Given the description of an element on the screen output the (x, y) to click on. 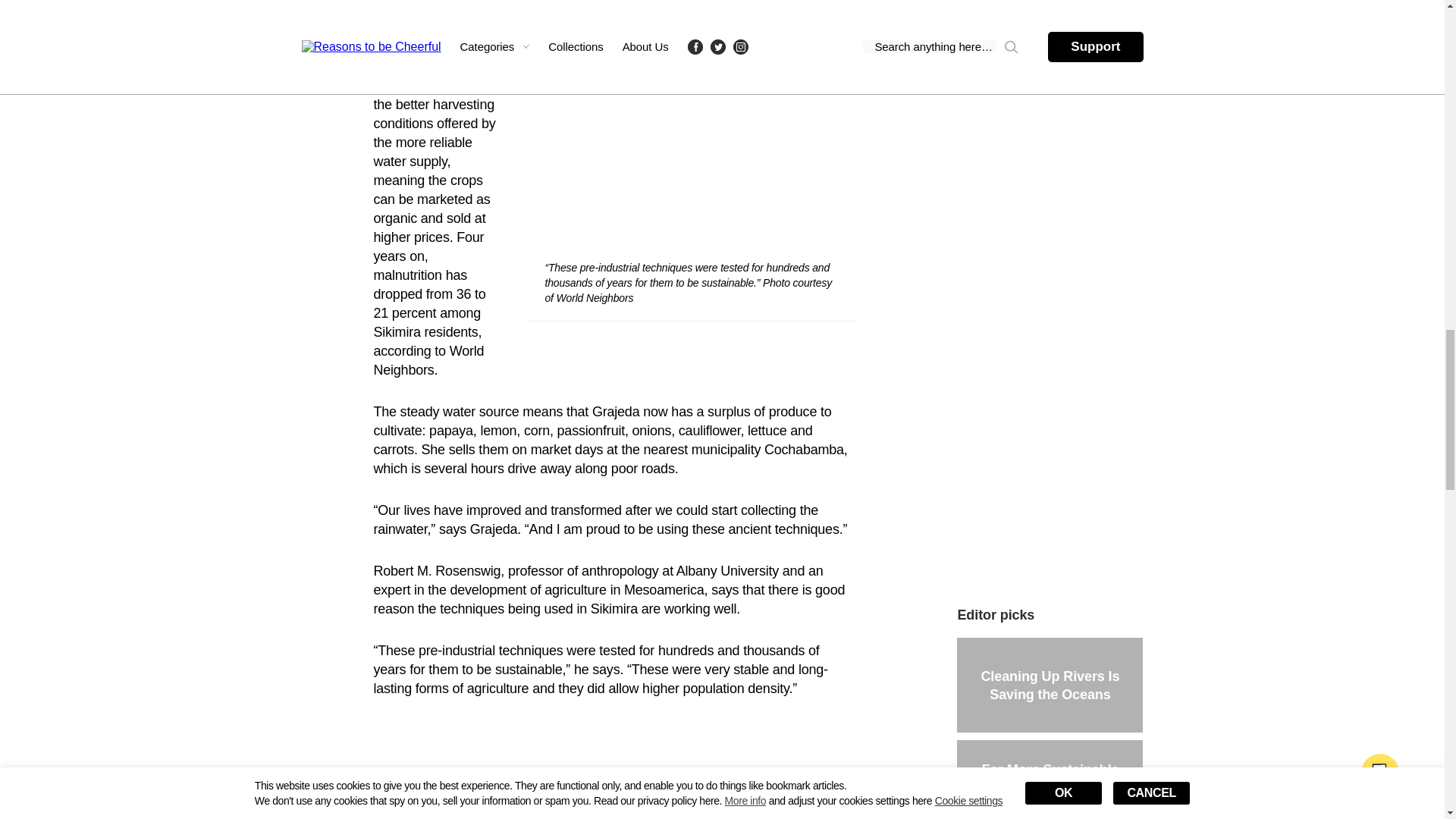
Cleaning Up Rivers Is Saving the Oceans (1049, 685)
For More Sustainable Affordable Housing, Just Add Mushrooms (1049, 779)
